Given the description of an element on the screen output the (x, y) to click on. 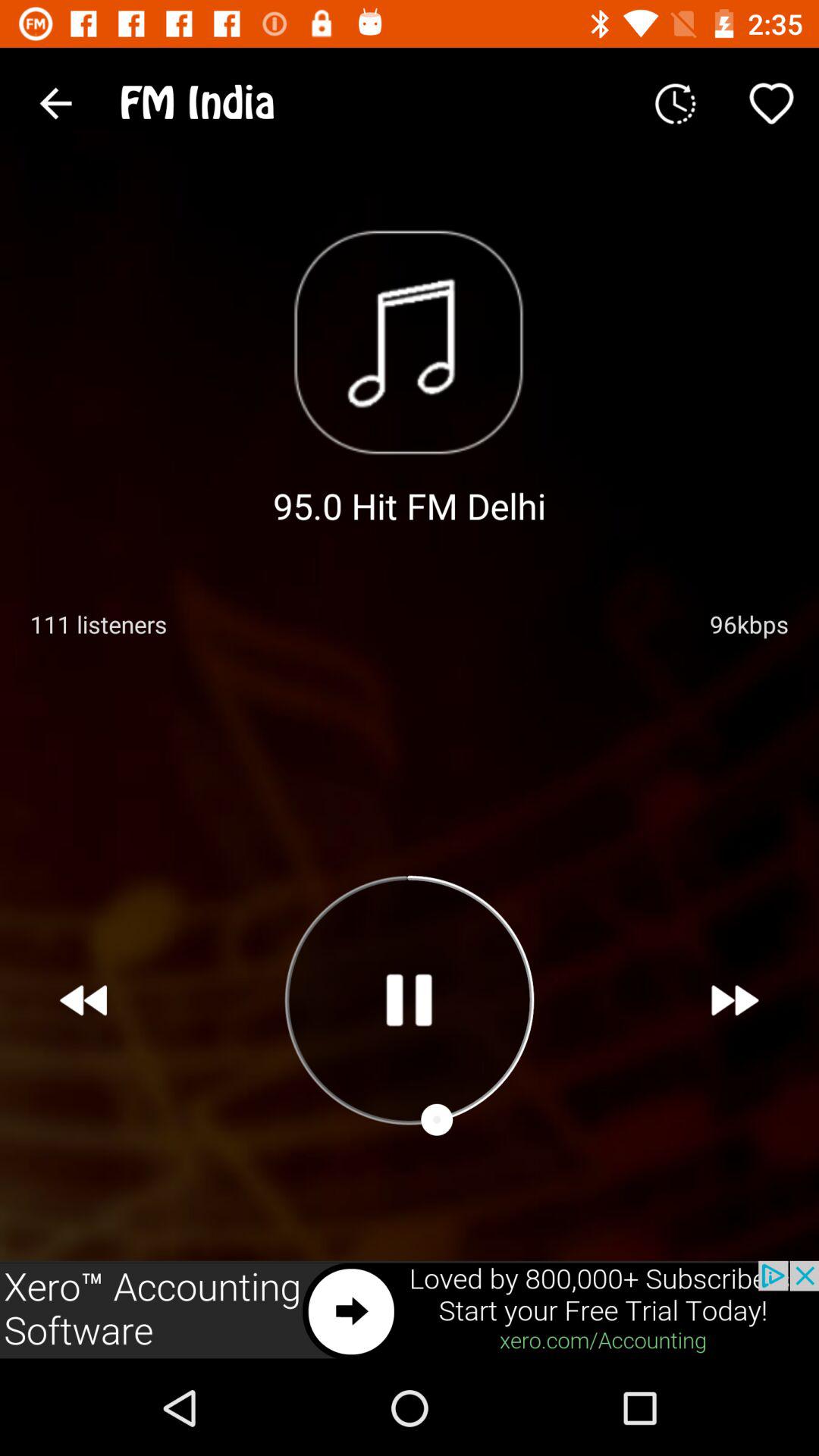
pause (409, 999)
